Given the description of an element on the screen output the (x, y) to click on. 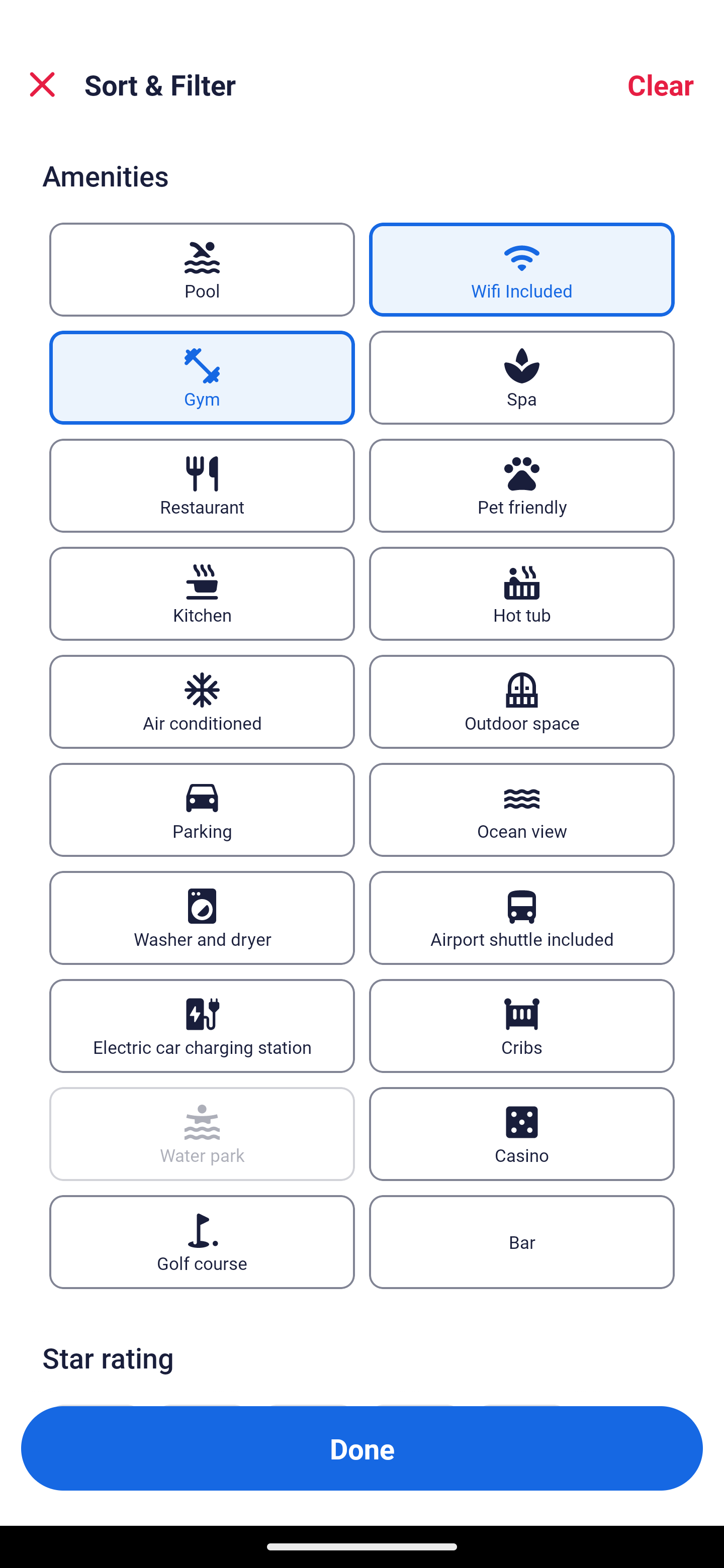
Close Sort and Filter (42, 84)
Clear (660, 84)
Pool (201, 269)
Wifi Included (521, 269)
Gym (201, 377)
Spa (521, 377)
Restaurant (201, 486)
Pet friendly (521, 486)
Kitchen (201, 594)
Hot tub (521, 594)
Air conditioned (201, 702)
Outdoor space (521, 702)
Parking (201, 809)
Ocean view (521, 809)
Washer and dryer (201, 917)
Airport shuttle included (521, 917)
Electric car charging station (201, 1025)
Cribs (521, 1025)
Water park (201, 1133)
Casino (521, 1133)
Golf course (201, 1241)
Bar (521, 1241)
Apply and close Sort and Filter Done (361, 1448)
